Given the description of an element on the screen output the (x, y) to click on. 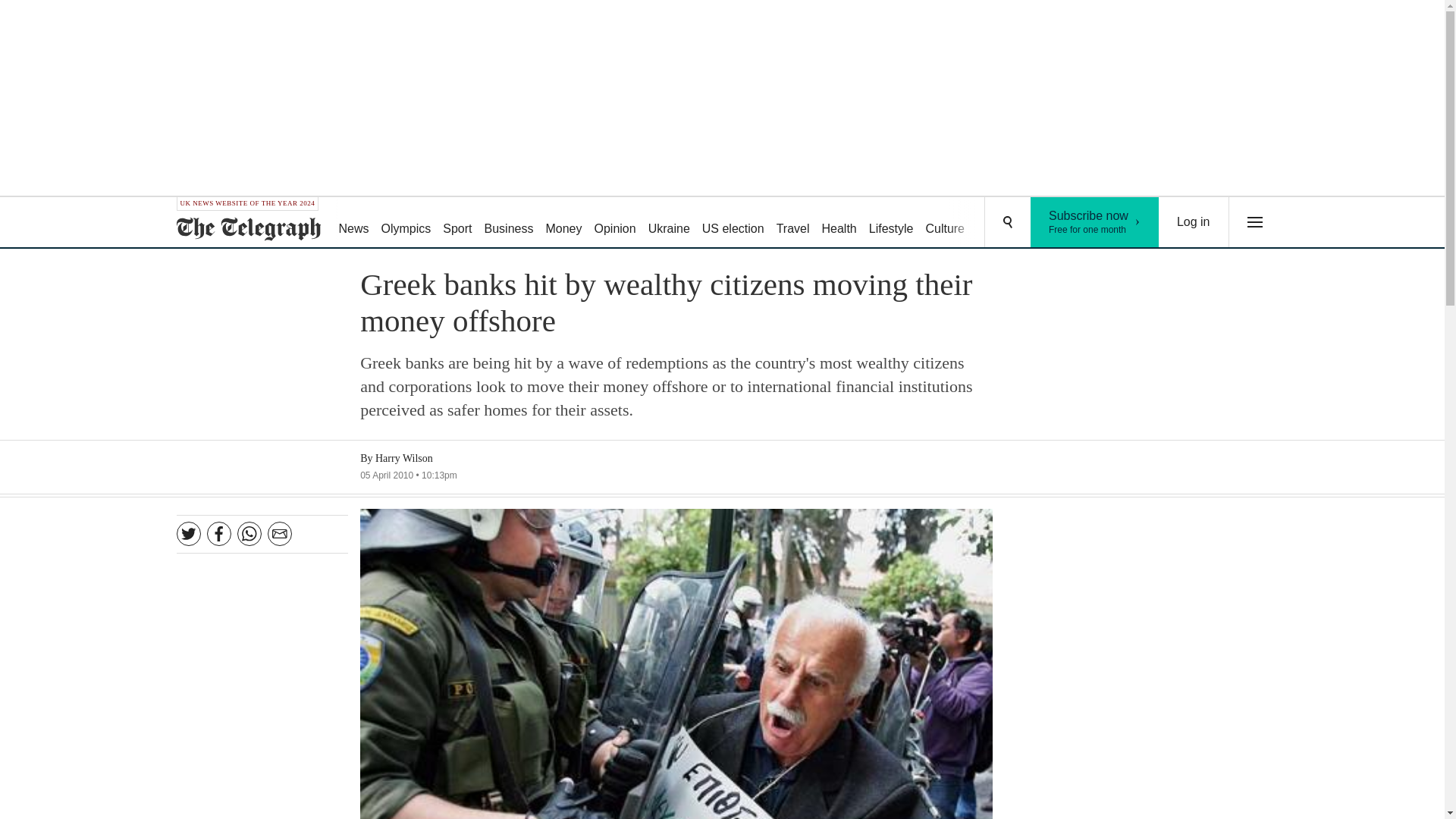
Culture (944, 223)
Health (838, 223)
US election (732, 223)
Business (509, 223)
Ukraine (668, 223)
Puzzles (998, 223)
Lifestyle (891, 223)
Sport (456, 223)
Log in (1094, 222)
Podcasts (1193, 222)
Travel (1056, 223)
Money (792, 223)
Olympics (563, 223)
Opinion (406, 223)
